Given the description of an element on the screen output the (x, y) to click on. 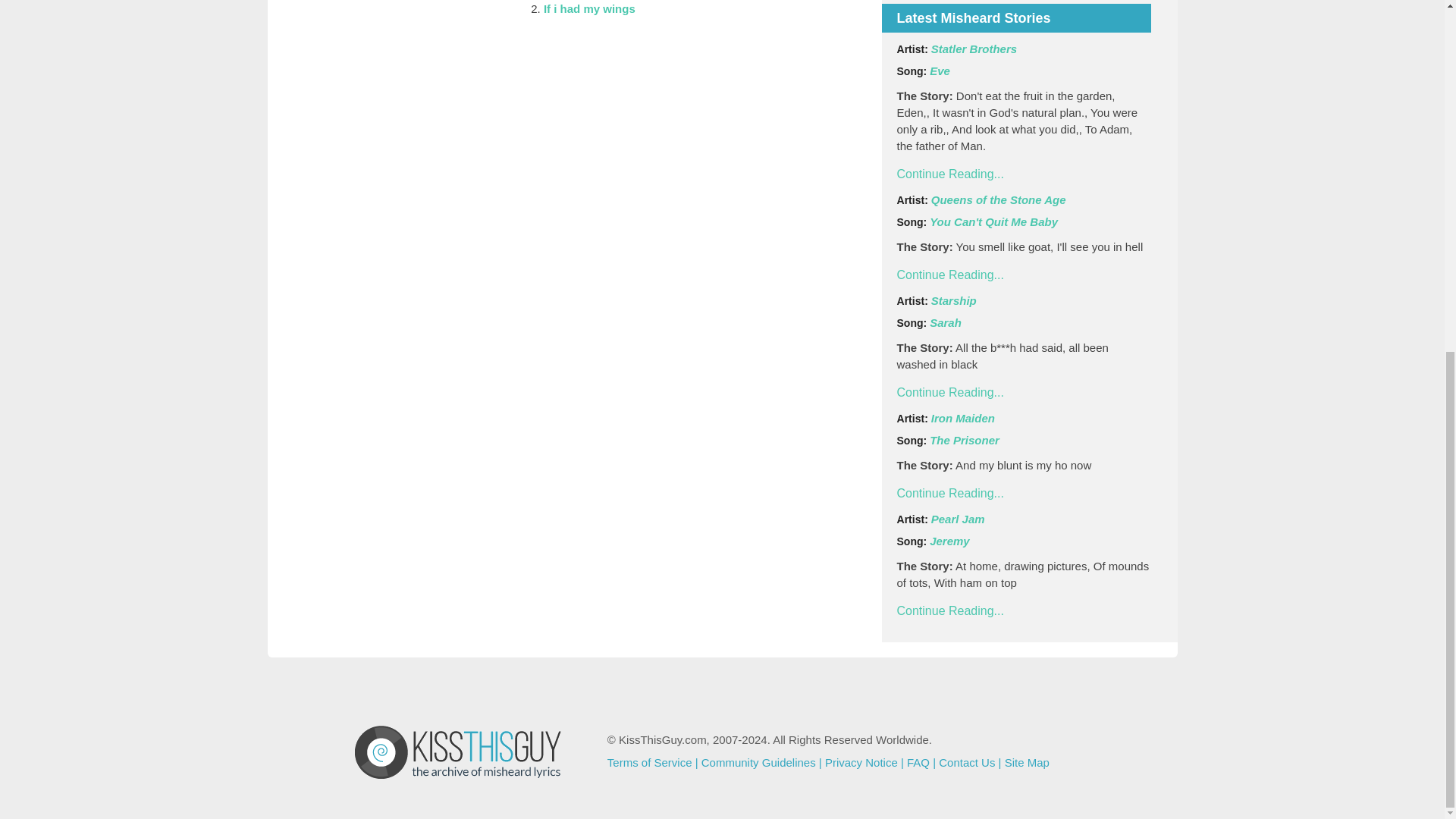
'If i had my wings' is a misheard lyric of Big Sugar (588, 8)
